Given the description of an element on the screen output the (x, y) to click on. 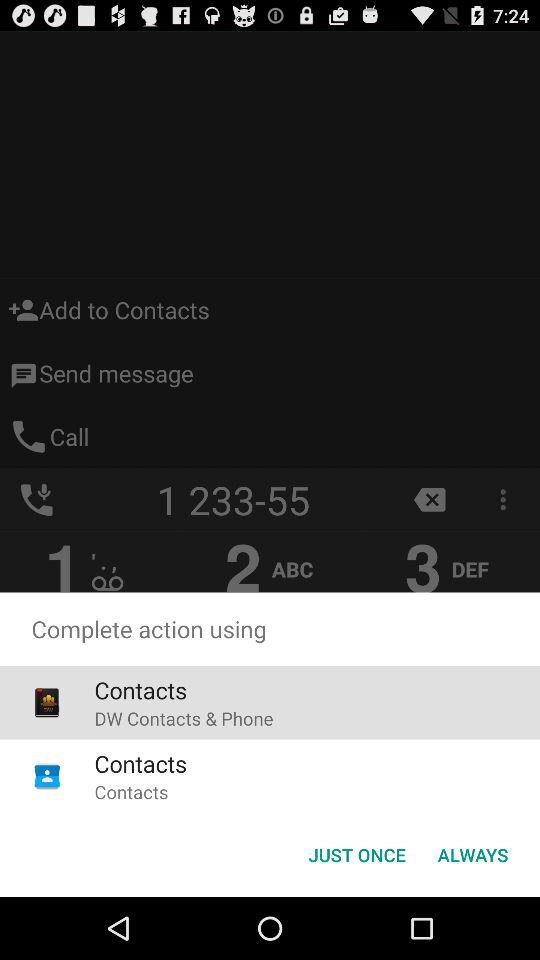
click button to the right of the just once (472, 854)
